Given the description of an element on the screen output the (x, y) to click on. 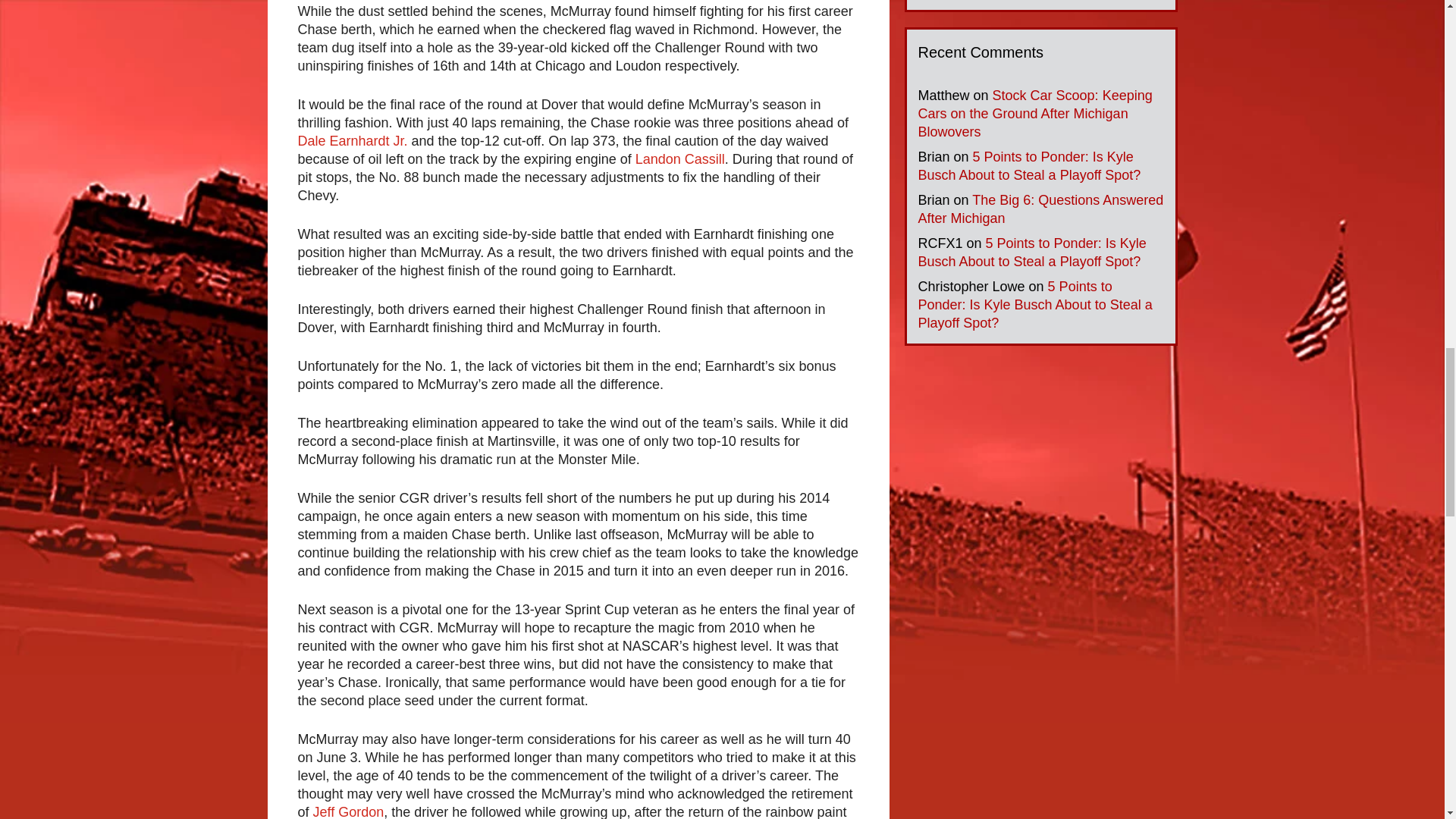
Landon Cassill (679, 159)
Dale Earnhardt Jr. (352, 140)
Jeff Gordon (348, 811)
